Given the description of an element on the screen output the (x, y) to click on. 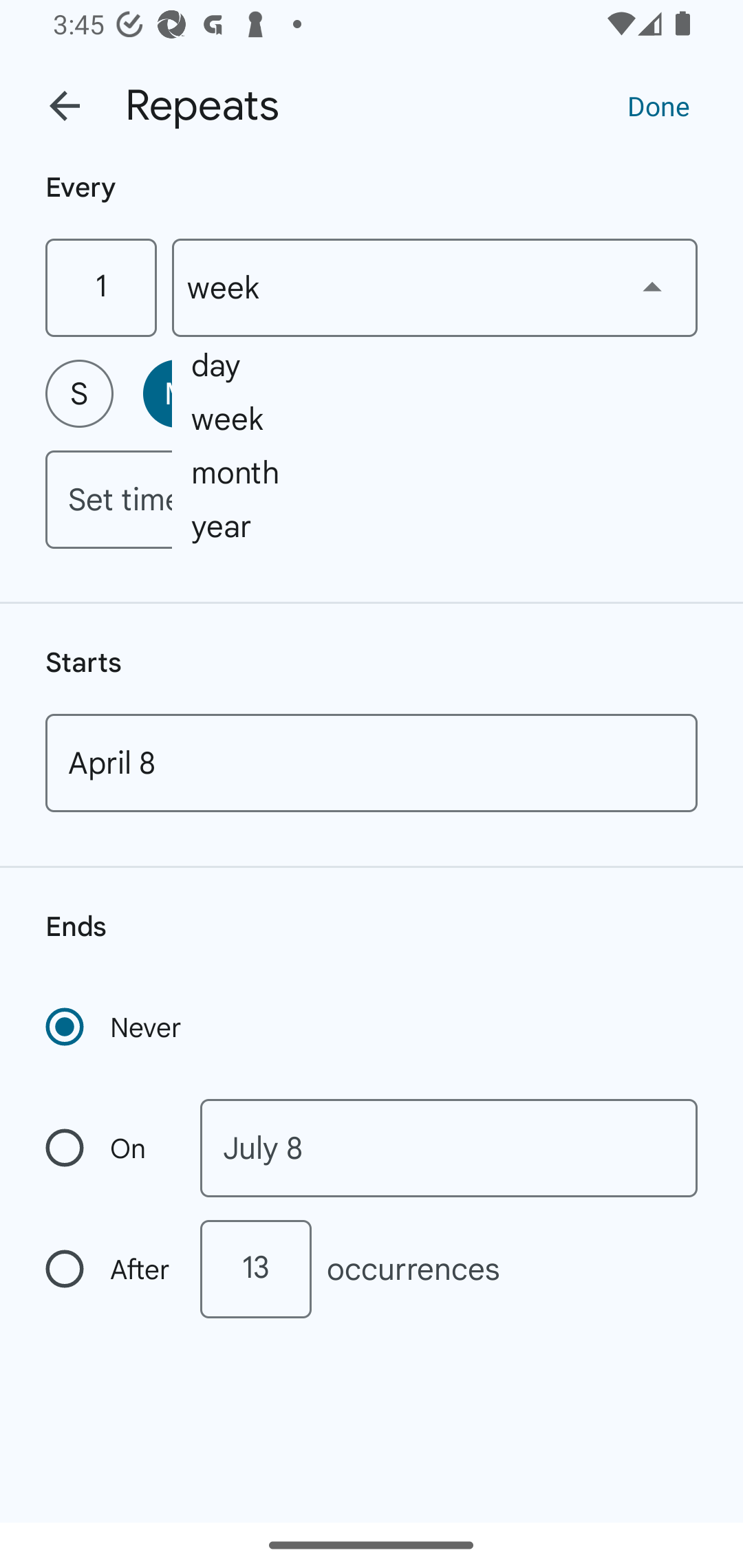
Back (64, 105)
Done (658, 105)
1 (100, 287)
week (434, 287)
Show dropdown menu (652, 286)
S Sunday (79, 393)
Set time (371, 499)
April 8 (371, 762)
Never Recurrence never ends (115, 1026)
July 8 (448, 1148)
On Recurrence ends on a specific date (109, 1148)
13 (255, 1268)
